Given the description of an element on the screen output the (x, y) to click on. 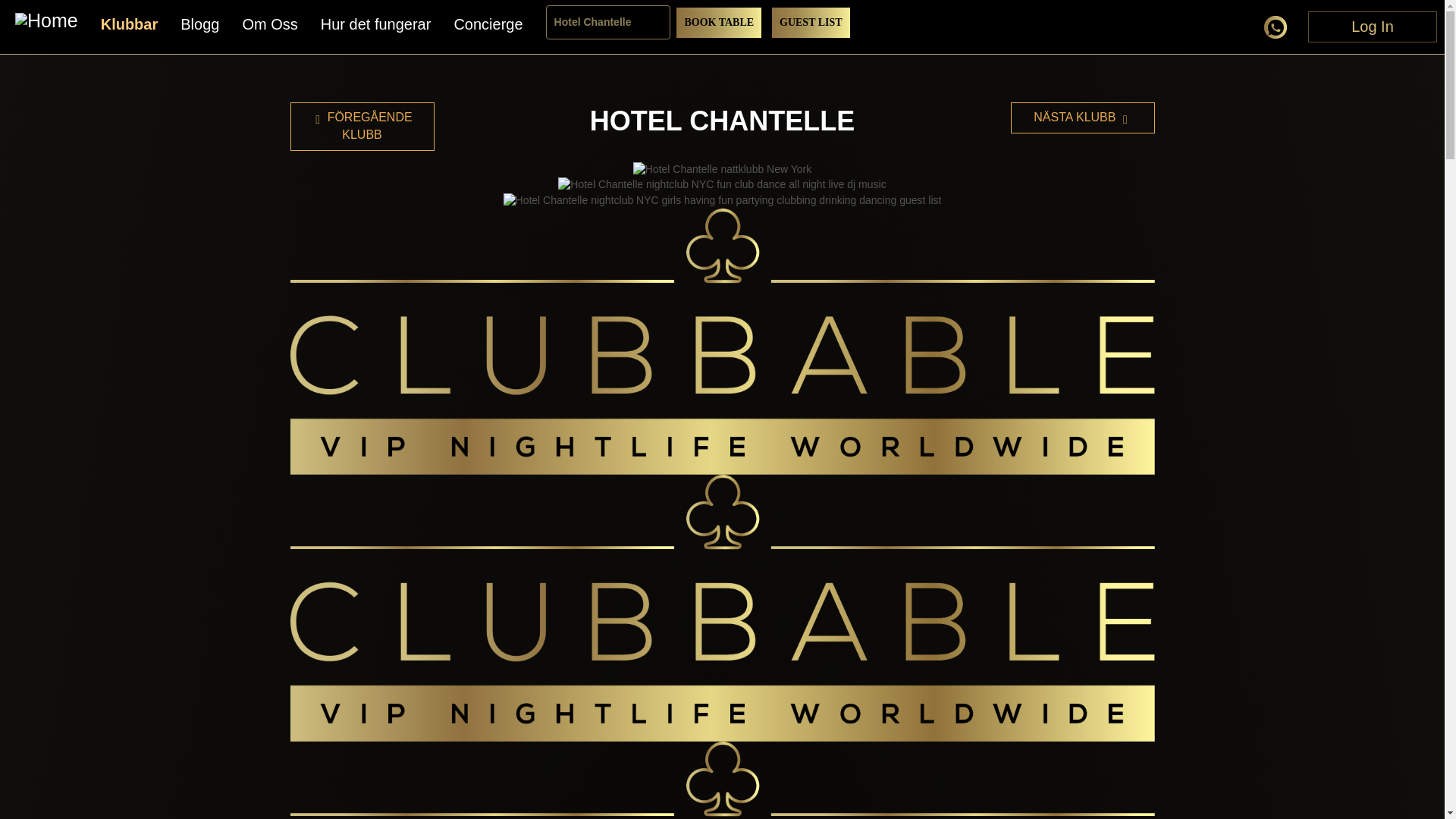
Login (1372, 26)
Home (46, 22)
Klubbar (129, 23)
Om Oss (269, 23)
Book Table (719, 22)
Log In (1372, 22)
Guest List (810, 22)
Om Oss (269, 23)
Hur det fungerar (375, 23)
Chatta nu (1280, 30)
BOOK TABLE (719, 22)
GUEST LIST (810, 22)
Klubbar (129, 23)
Blogg (199, 23)
Log In (1372, 26)
